Given the description of an element on the screen output the (x, y) to click on. 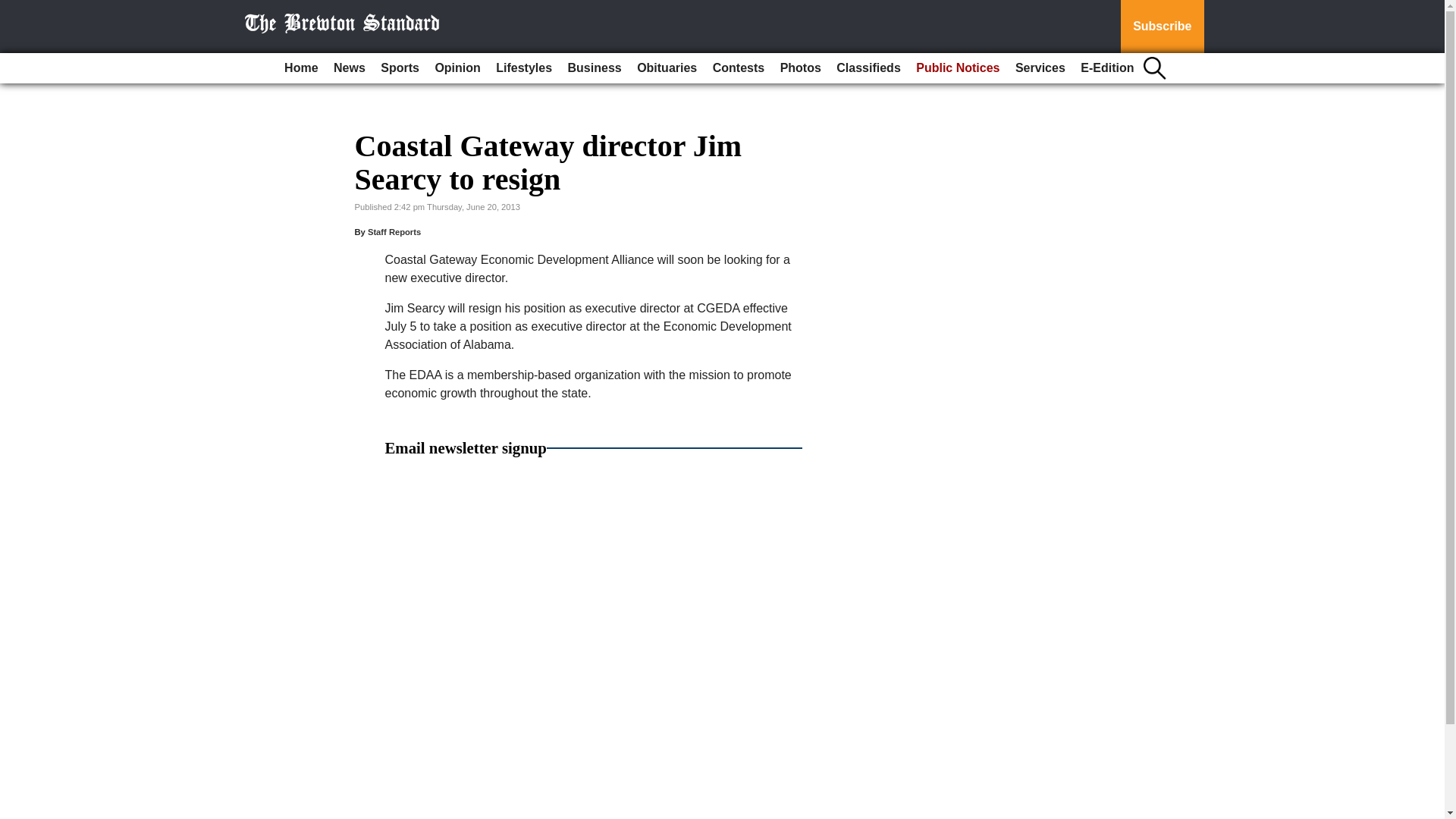
Sports (399, 68)
Lifestyles (523, 68)
Contests (738, 68)
Obituaries (666, 68)
Staff Reports (394, 231)
Services (1040, 68)
News (349, 68)
E-Edition (1107, 68)
Subscribe (1162, 26)
Classifieds (867, 68)
